Given the description of an element on the screen output the (x, y) to click on. 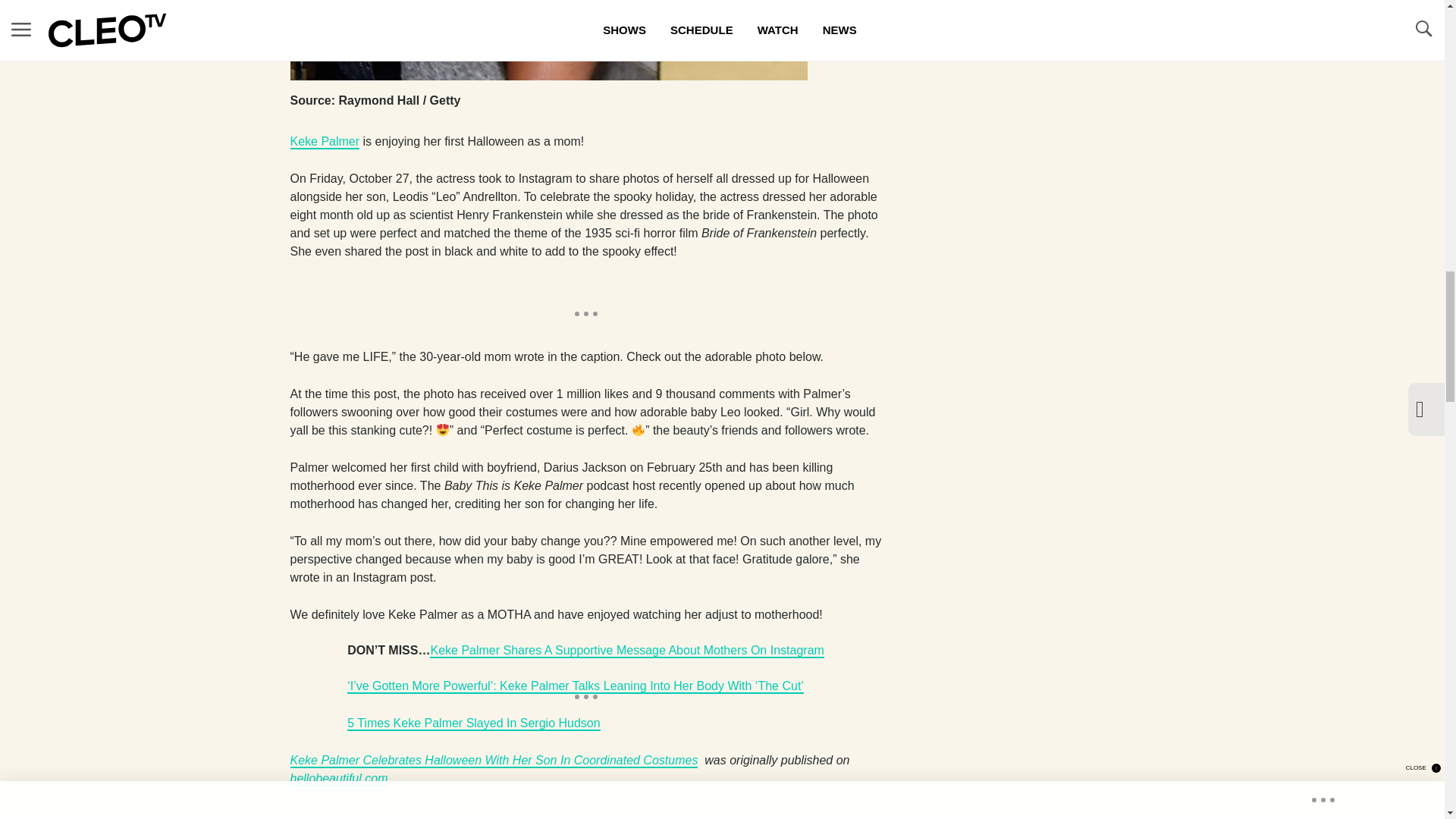
5 Times Keke Palmer Slayed In Sergio Hudson (473, 723)
hellobeautiful.com (338, 779)
Keke Palmer (324, 142)
